Given the description of an element on the screen output the (x, y) to click on. 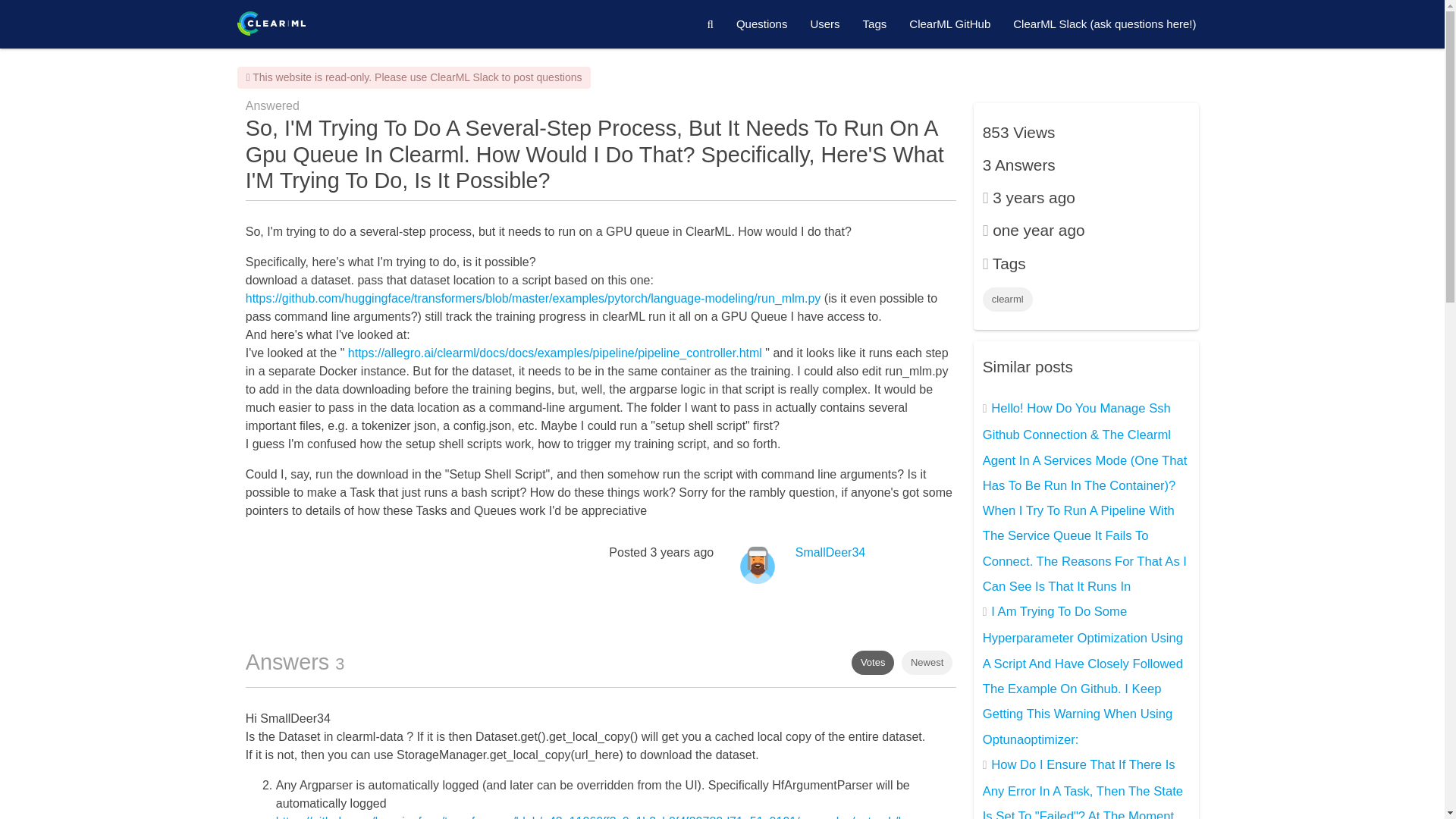
Questions (762, 24)
Newest (926, 662)
ClearML GitHub (949, 24)
SmallDeer34 (829, 552)
Users (823, 24)
17 June 2021, 21:50 (682, 552)
Tags (874, 24)
Questions (762, 24)
ClearML GitHub (949, 24)
Votes (873, 662)
